Given the description of an element on the screen output the (x, y) to click on. 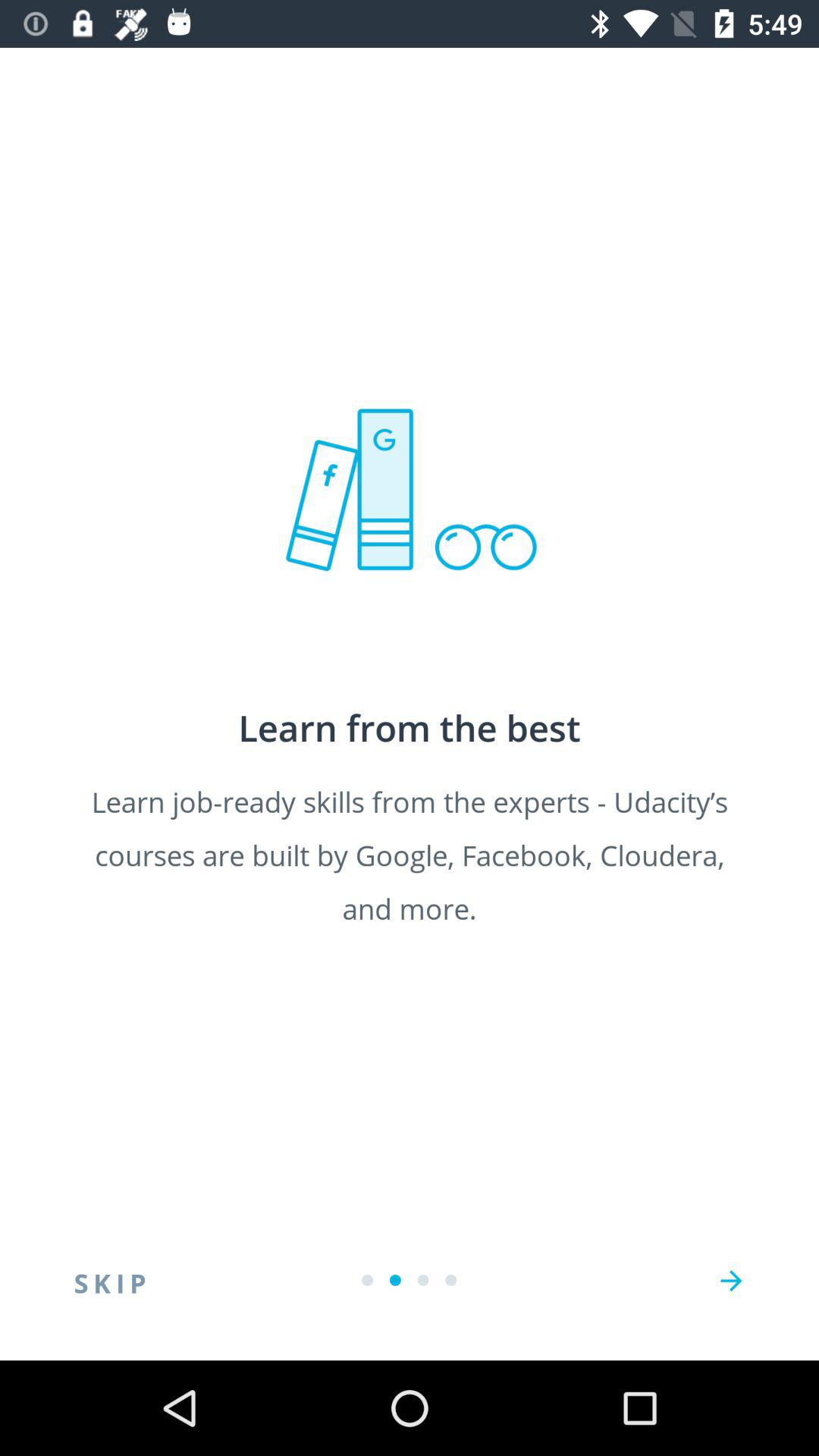
turn off item below the learn job ready item (109, 1280)
